Given the description of an element on the screen output the (x, y) to click on. 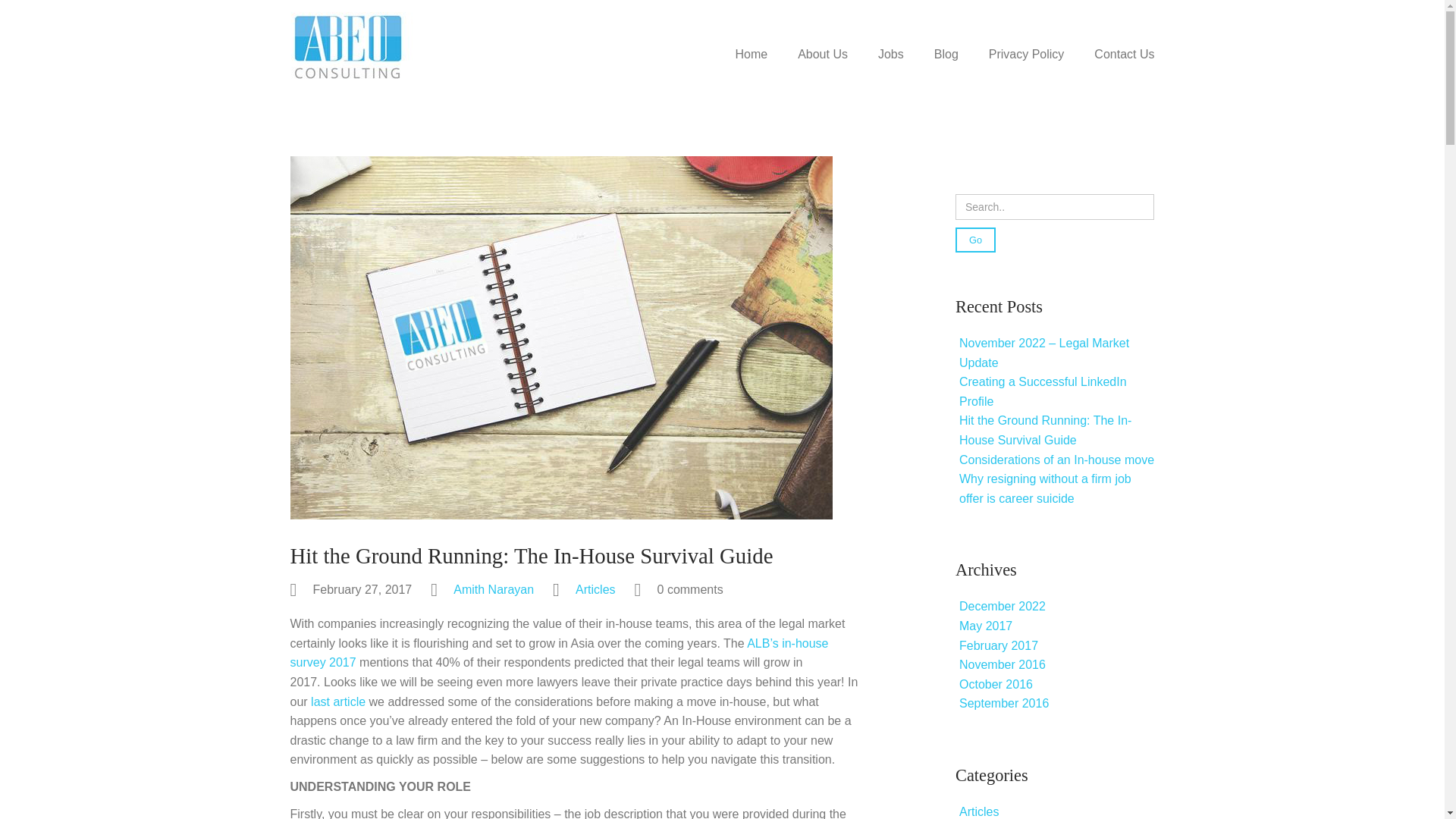
Jobs (890, 70)
last article (338, 701)
November 2016 (1002, 664)
Creating a Successful LinkedIn Profile (1042, 391)
About Us (823, 70)
October 2016 (995, 684)
Contact Us (1116, 70)
Why resigning without a firm job offer is career suicide (1045, 488)
Go (975, 239)
Amith Narayan (493, 589)
